Given the description of an element on the screen output the (x, y) to click on. 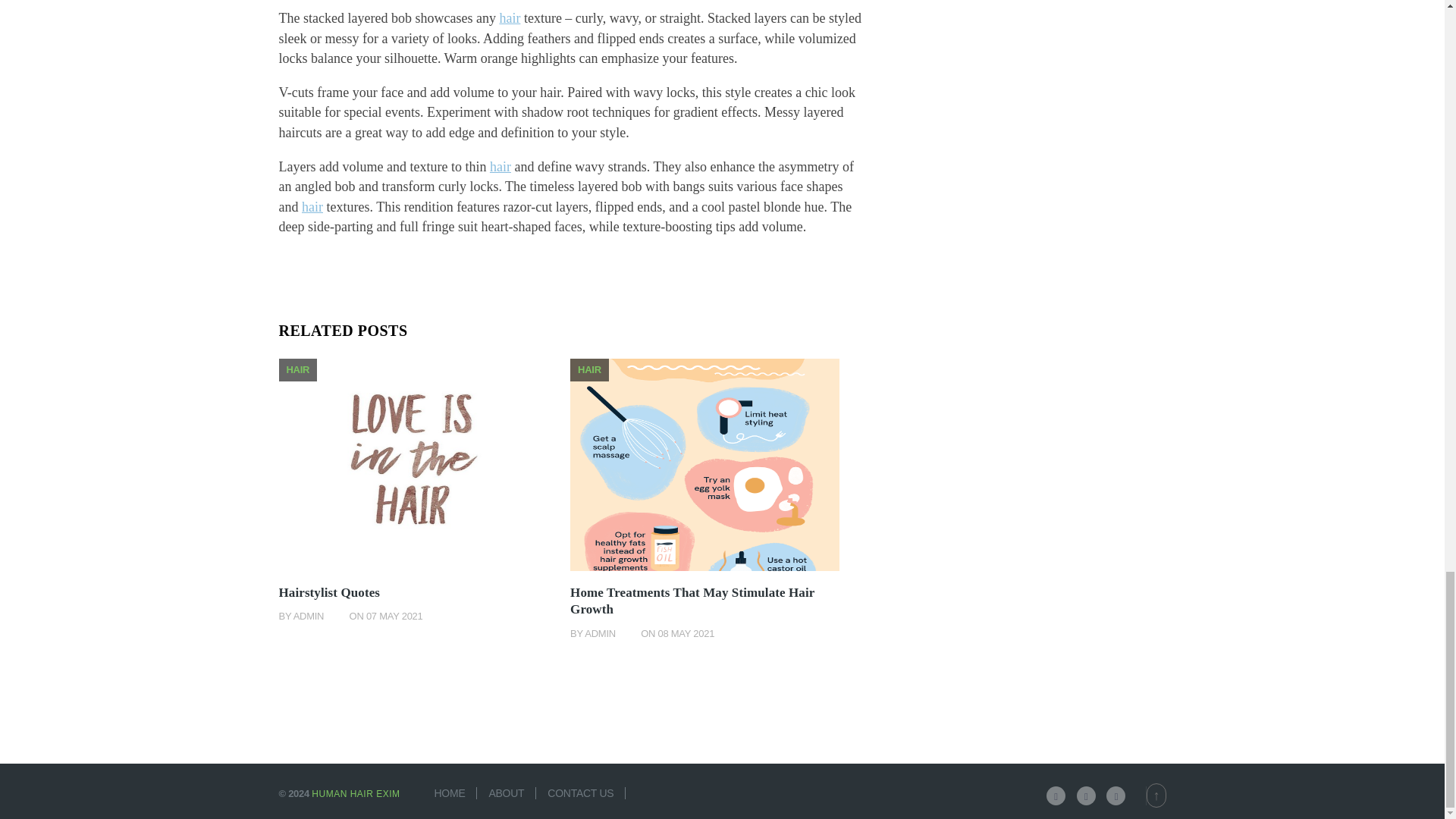
ADMIN (600, 633)
hair (509, 17)
hair (500, 166)
hair (312, 206)
Home Treatments That May Stimulate Hair Growth (691, 601)
ADMIN (309, 615)
HAIR (298, 369)
HAIR (589, 369)
Hairstylist Quotes (329, 592)
